Given the description of an element on the screen output the (x, y) to click on. 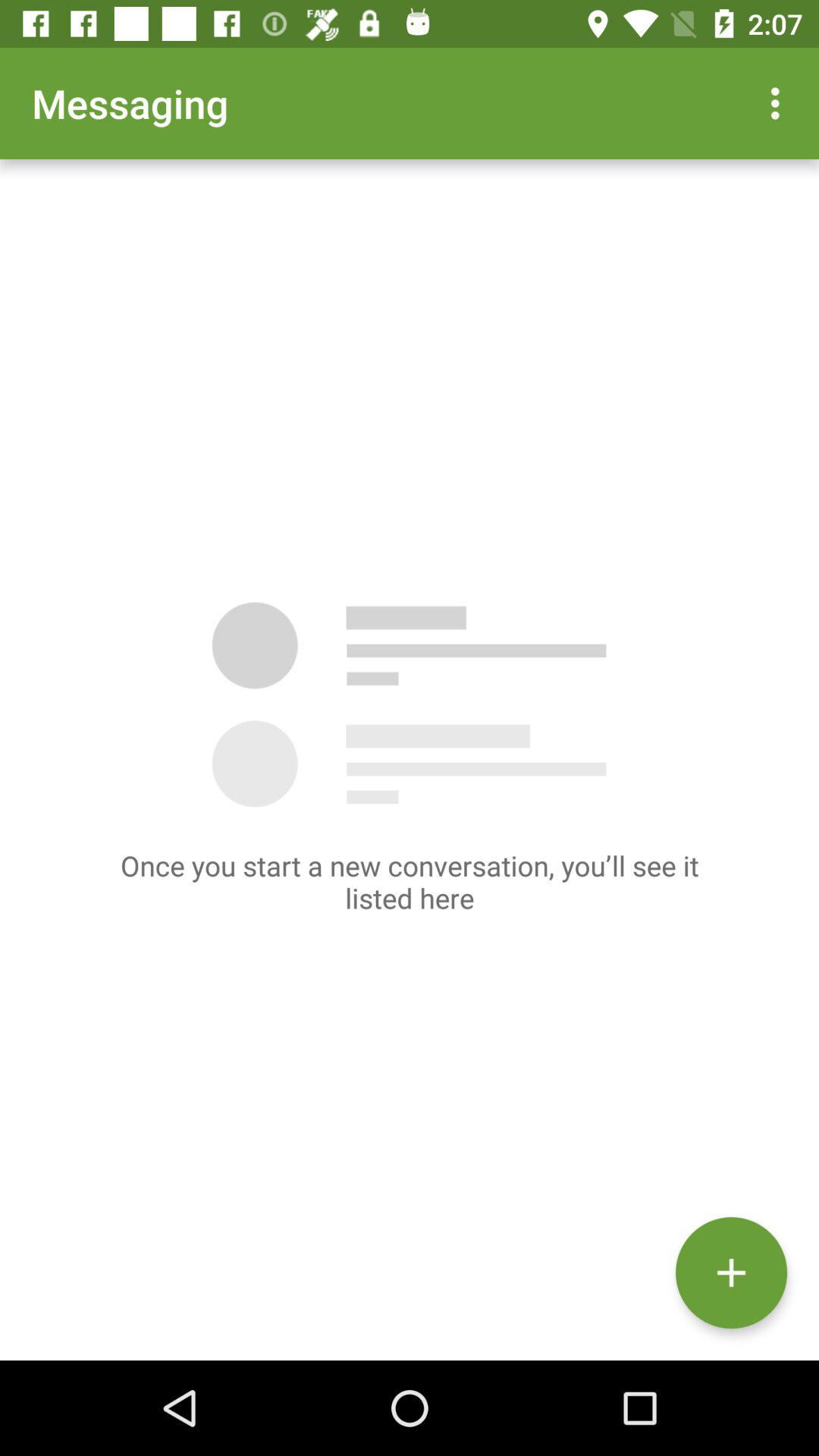
open app to the right of the messaging item (779, 103)
